Given the description of an element on the screen output the (x, y) to click on. 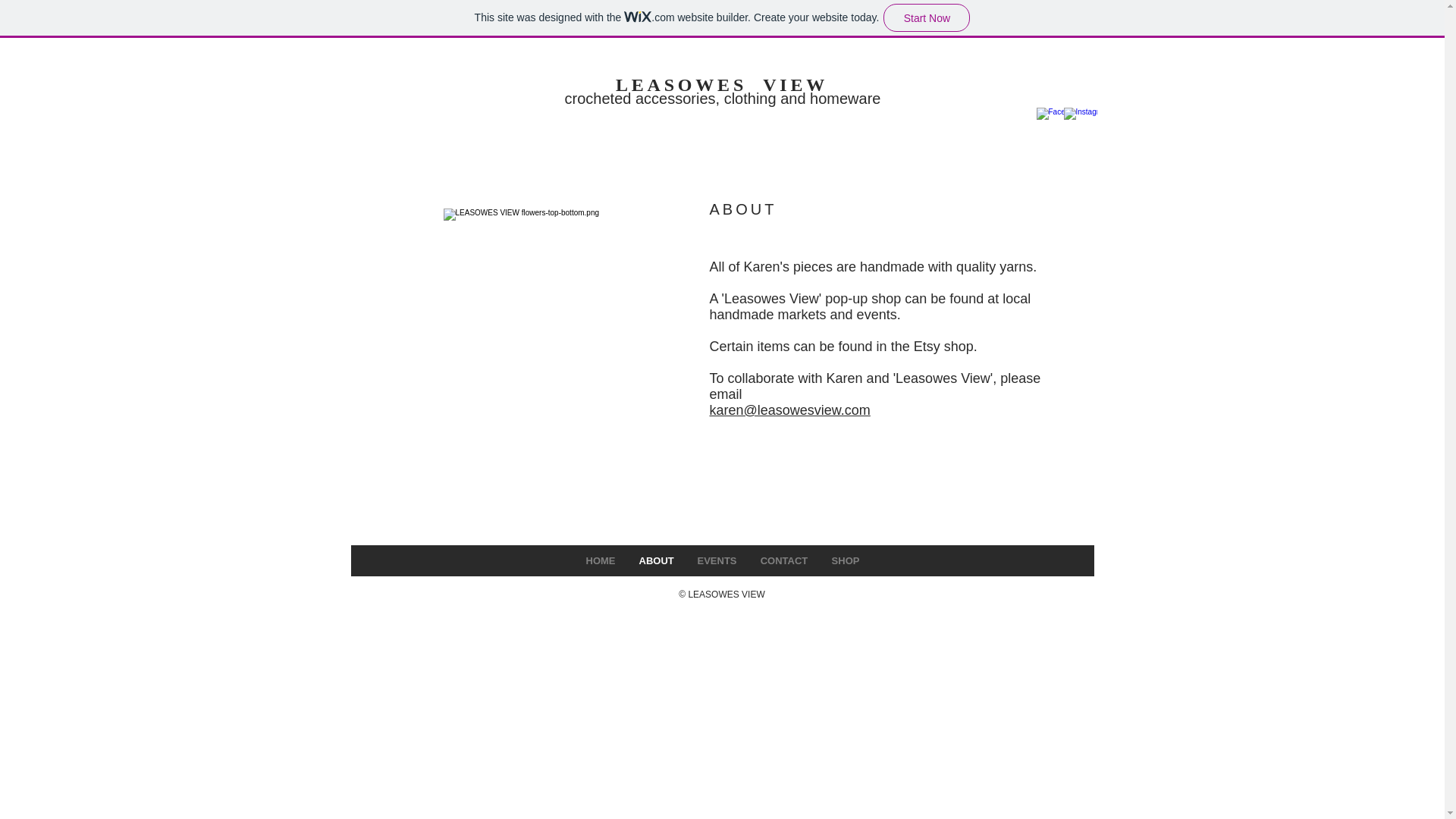
SHOP (844, 560)
LEASOWES  VIEW (721, 85)
CONTACT (783, 560)
ABOUT (655, 560)
EVENTS (716, 560)
HOME (599, 560)
